Given the description of an element on the screen output the (x, y) to click on. 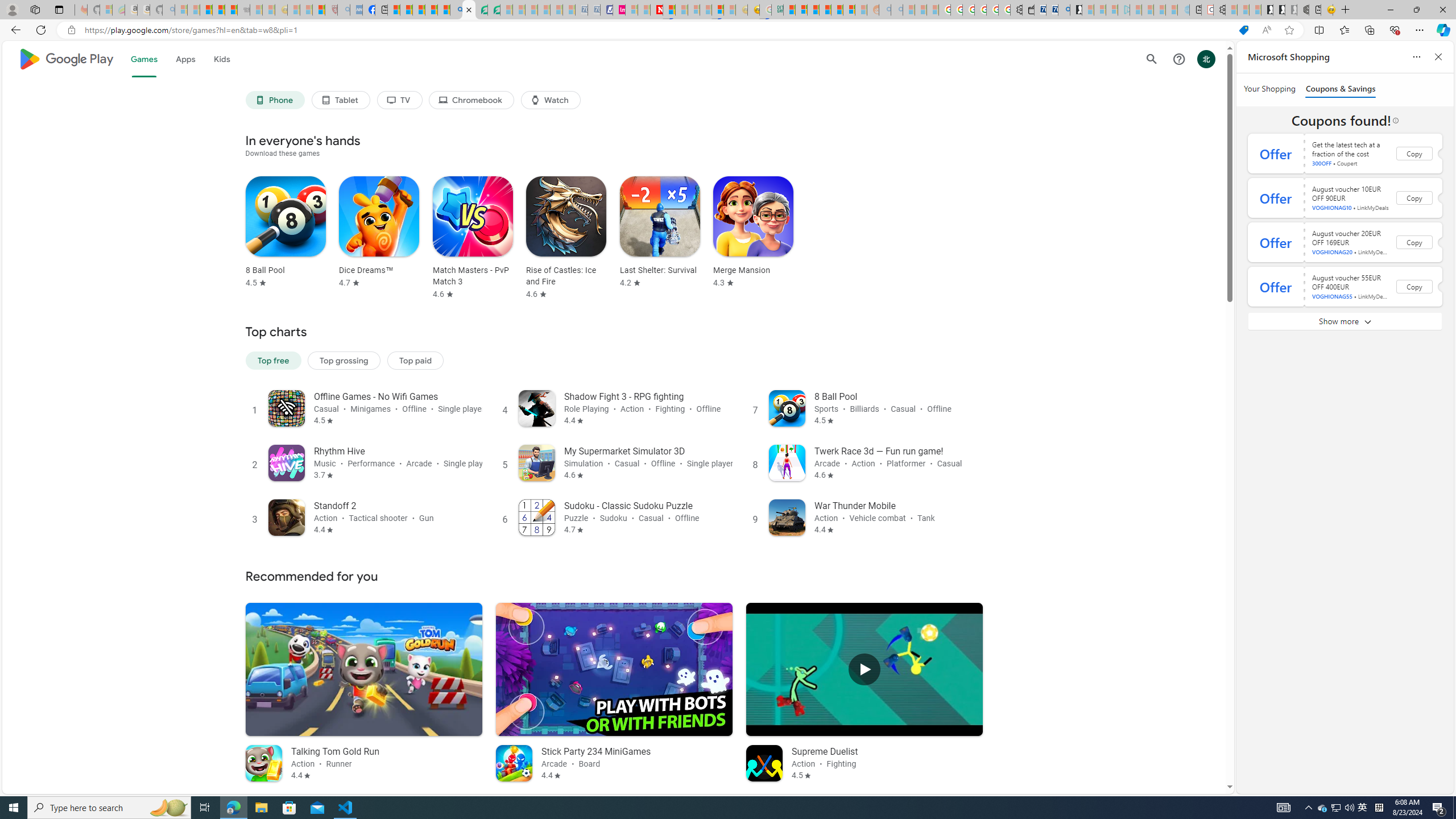
TV (399, 99)
Android Apps on Google Play (468, 9)
Nordace - Nordace Siena Is Not An Ordinary Backpack (1302, 9)
Top grossing (343, 359)
Wallet (1028, 9)
This site has coupons! Shopping in Microsoft Edge (1243, 29)
